Given the description of an element on the screen output the (x, y) to click on. 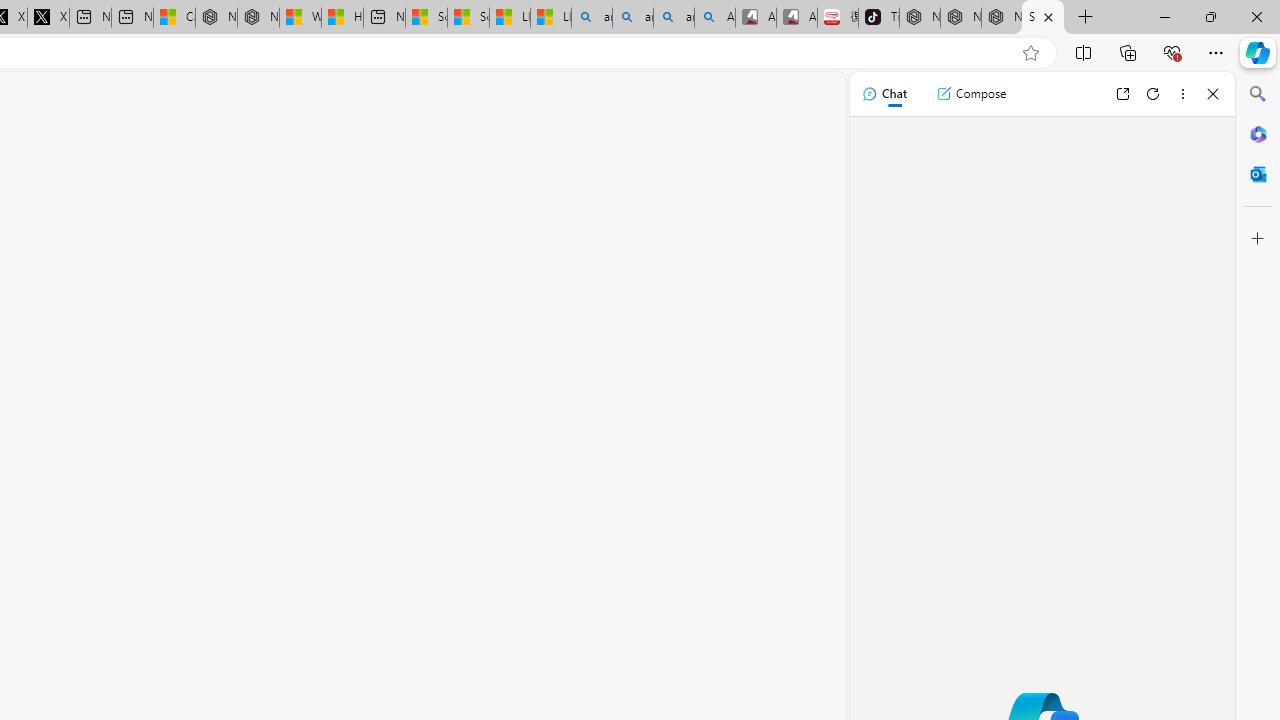
Compose (971, 93)
Amazon Echo Robot - Search Images (714, 17)
Nordace - Siena Pro 15 Essential Set (1001, 17)
